Given the description of an element on the screen output the (x, y) to click on. 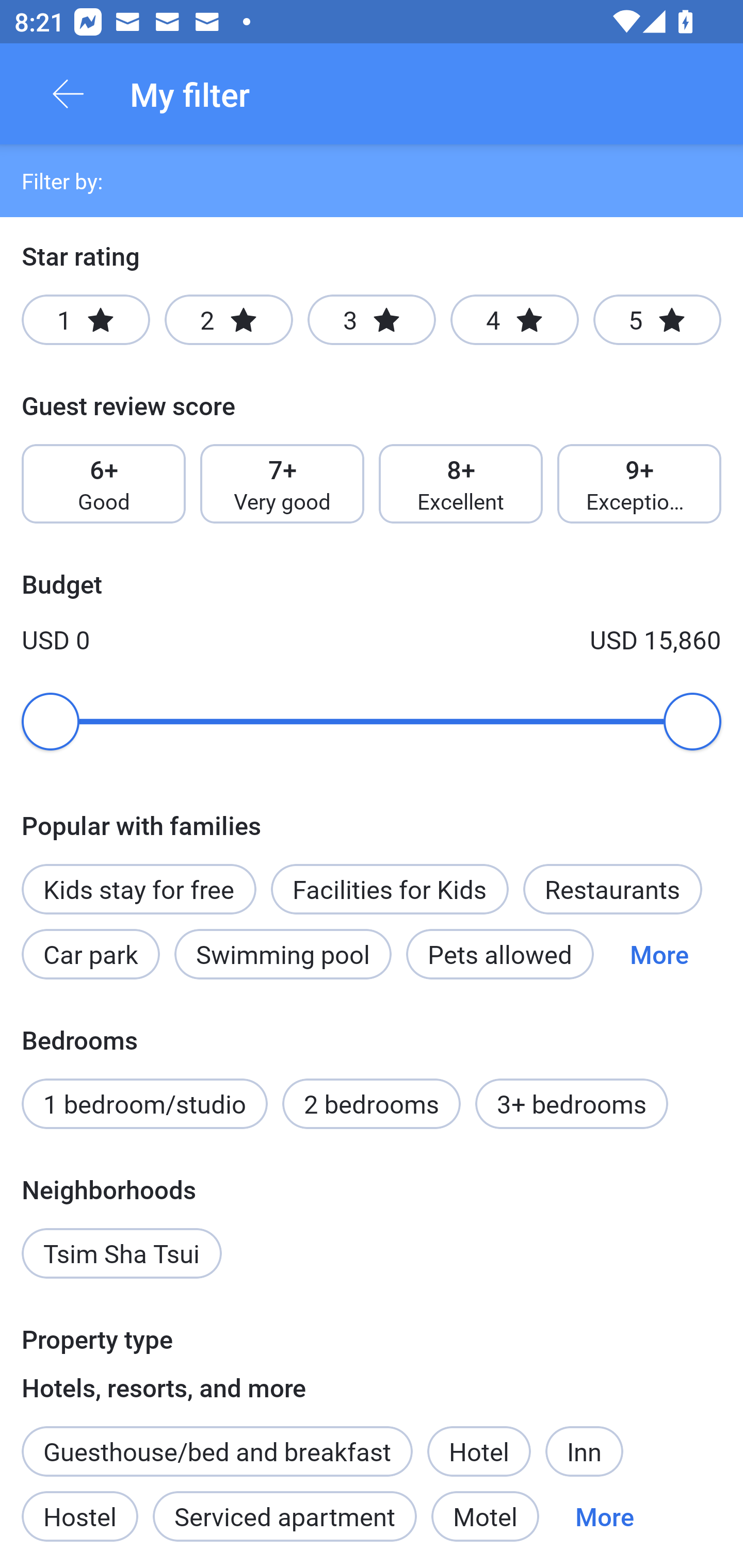
1 (85, 319)
2 (228, 319)
3 (371, 319)
4 (514, 319)
5 (657, 319)
6+ Good (103, 483)
7+ Very good (281, 483)
8+ Excellent (460, 483)
9+ Exceptional (639, 483)
Kids stay for free (138, 888)
Facilities for Kids (389, 888)
Restaurants (612, 888)
Car park (90, 954)
Swimming pool (282, 954)
Pets allowed (499, 954)
More (659, 954)
1 bedroom/studio (144, 1103)
2 bedrooms (371, 1103)
3+ bedrooms (571, 1103)
Tsim Sha Tsui (121, 1253)
Guesthouse/bed and breakfast (217, 1451)
Hotel (479, 1451)
Inn (583, 1451)
Hostel (79, 1516)
Serviced apartment (284, 1516)
Motel (485, 1516)
More (604, 1516)
